Given the description of an element on the screen output the (x, y) to click on. 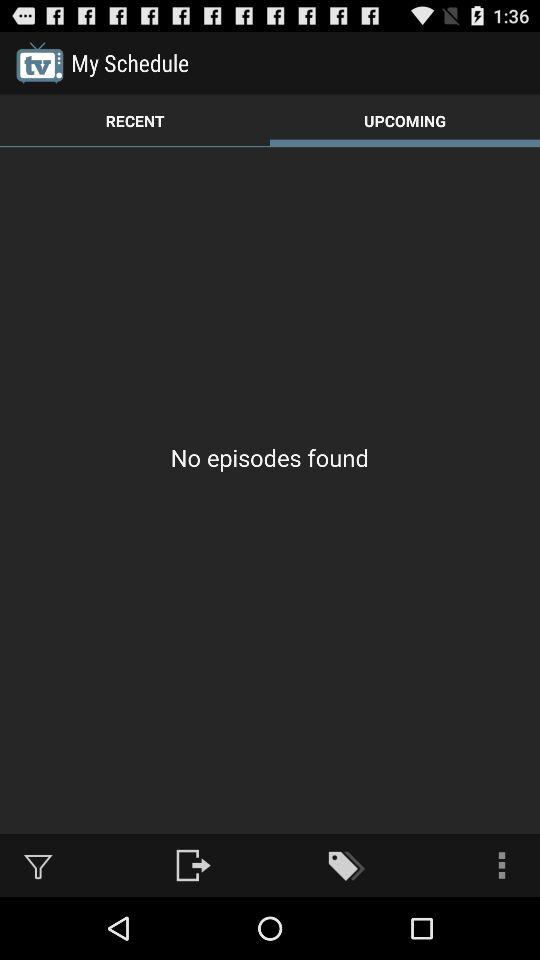
turn off the item next to recent icon (405, 120)
